Given the description of an element on the screen output the (x, y) to click on. 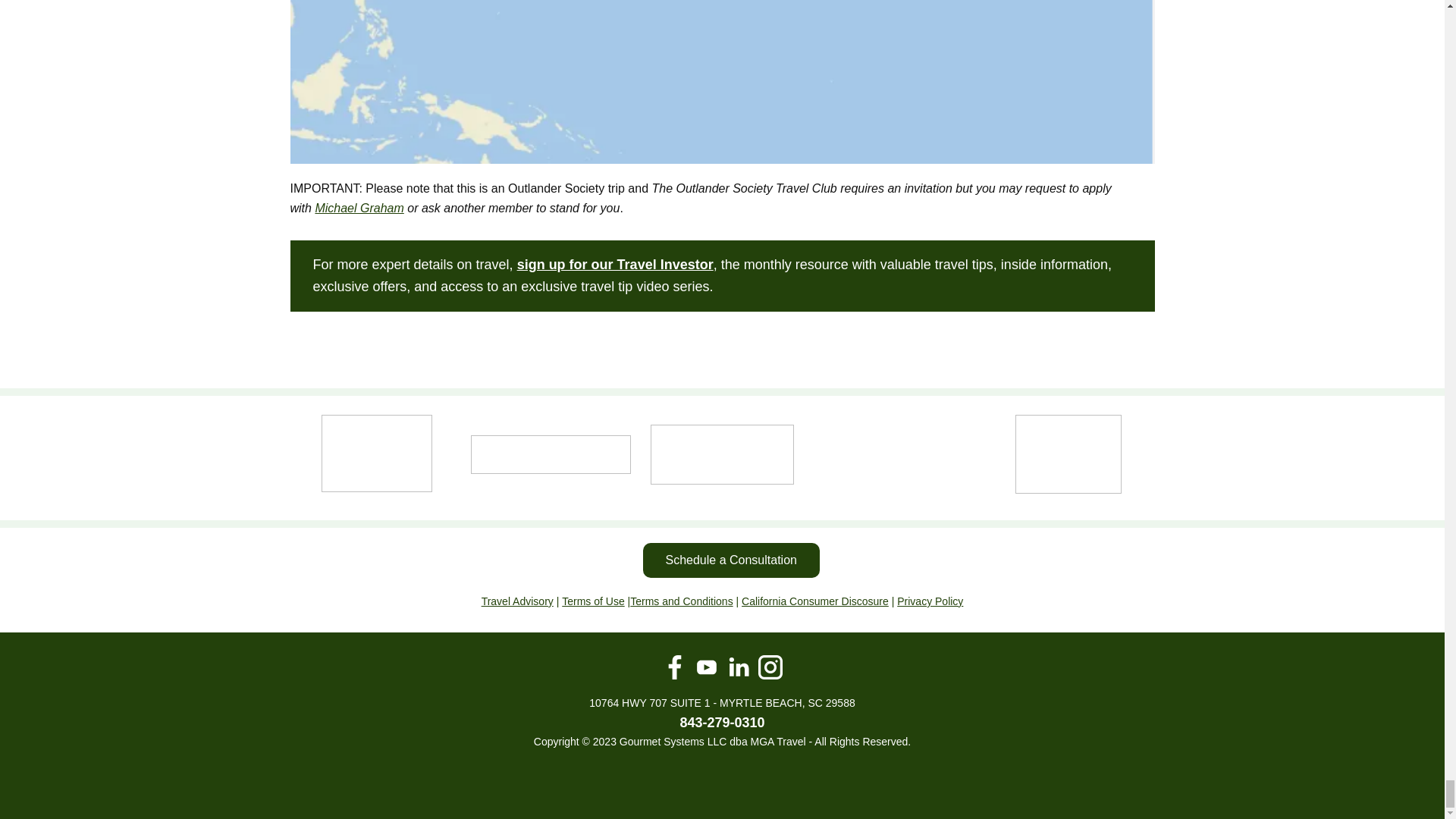
Instagram (770, 667)
Facebook (674, 667)
